Given the description of an element on the screen output the (x, y) to click on. 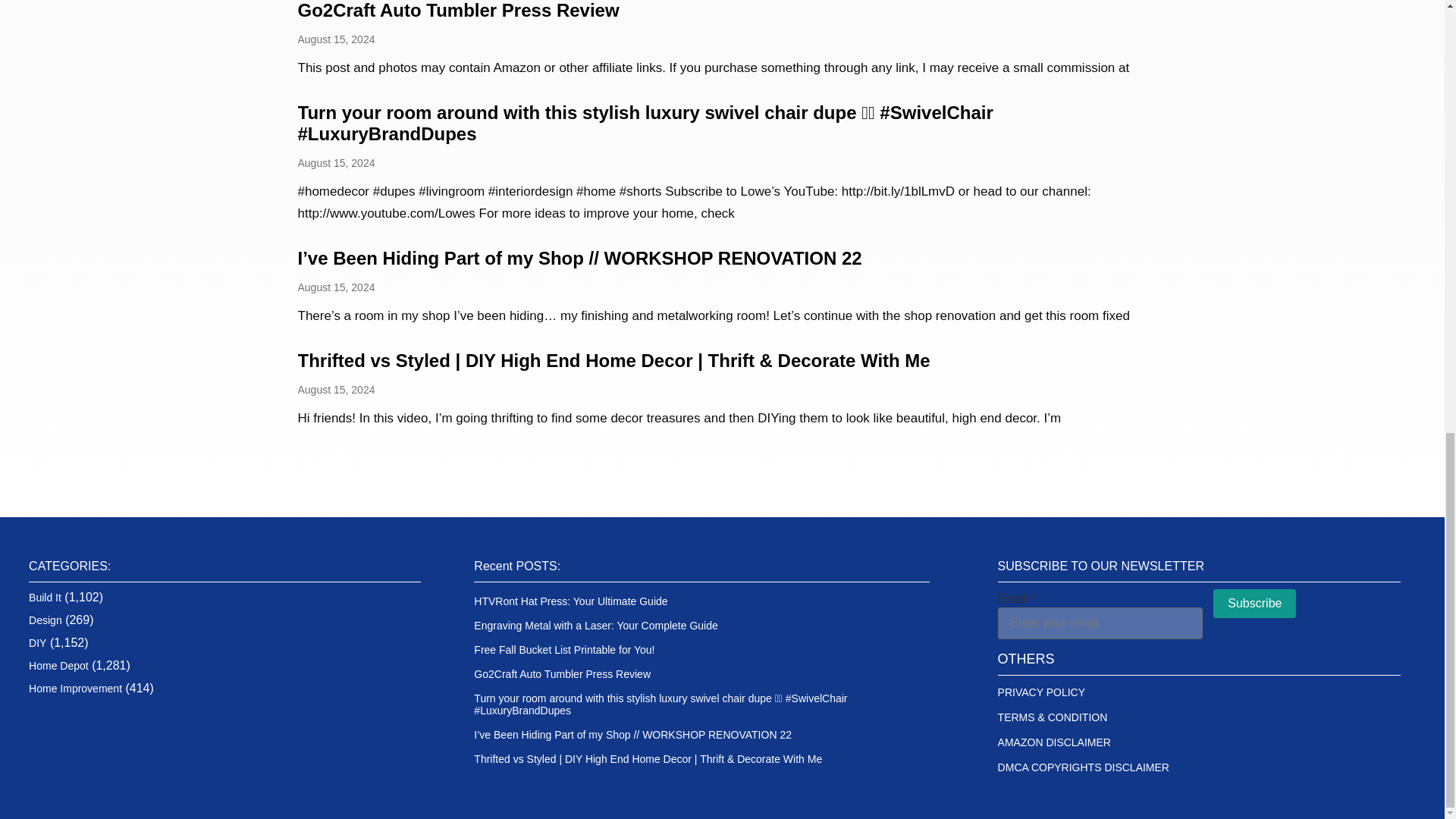
Go2Craft Auto Tumbler Press Review (457, 10)
Design (45, 620)
DIY (37, 643)
Build It (45, 597)
HTVRont Hat Press: Your Ultimate Guide (570, 601)
Home Improvement (75, 688)
Engraving Metal with a Laser: Your Complete Guide (595, 625)
Home Depot (58, 665)
